Given the description of an element on the screen output the (x, y) to click on. 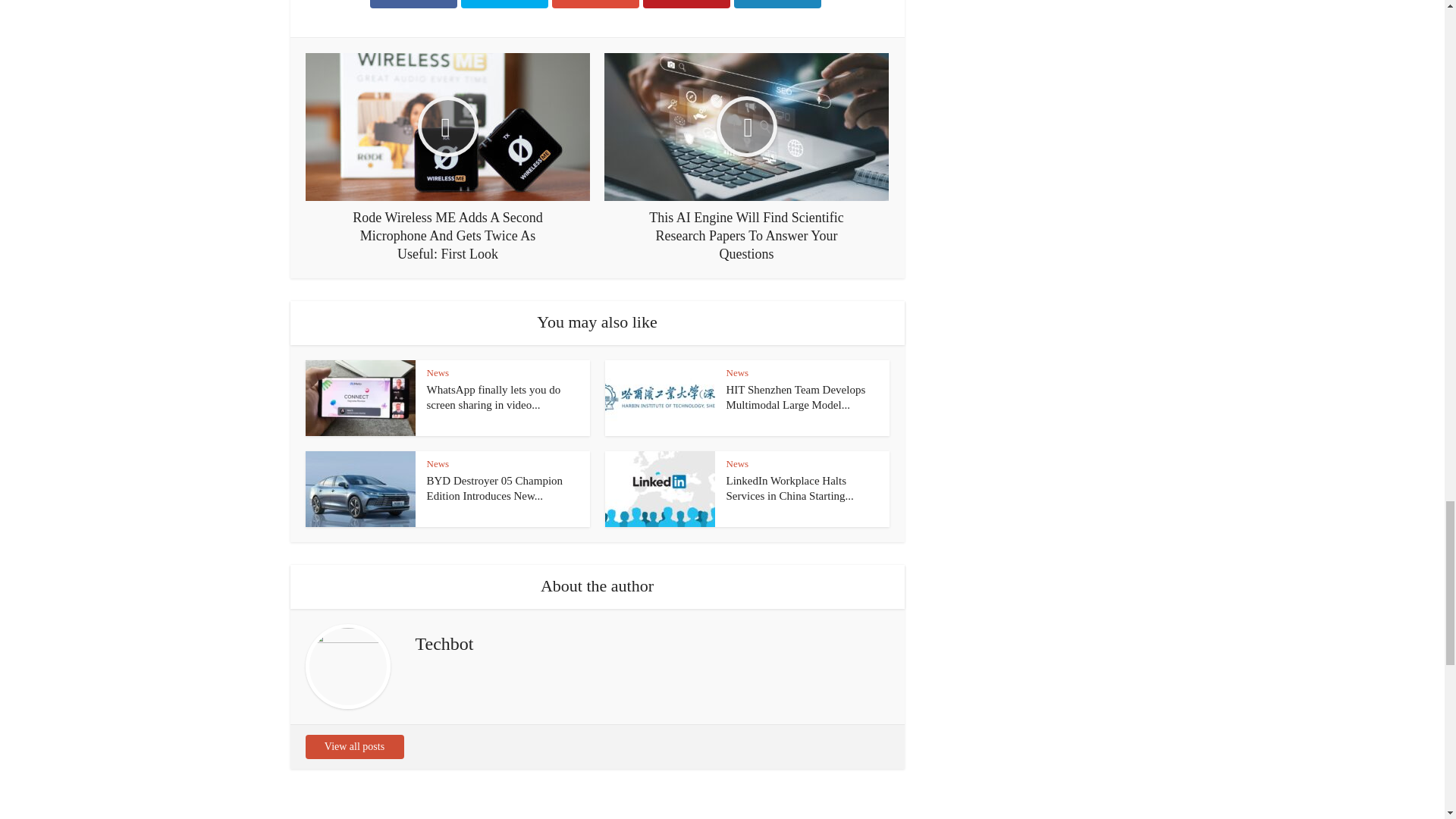
WhatsApp finally lets you do screen sharing in video calls (493, 397)
News (437, 372)
LinkedIn Workplace Halts Services in China Starting Today (789, 488)
BYD Destroyer 05 Champion Edition Introduces New Version (494, 488)
